Given the description of an element on the screen output the (x, y) to click on. 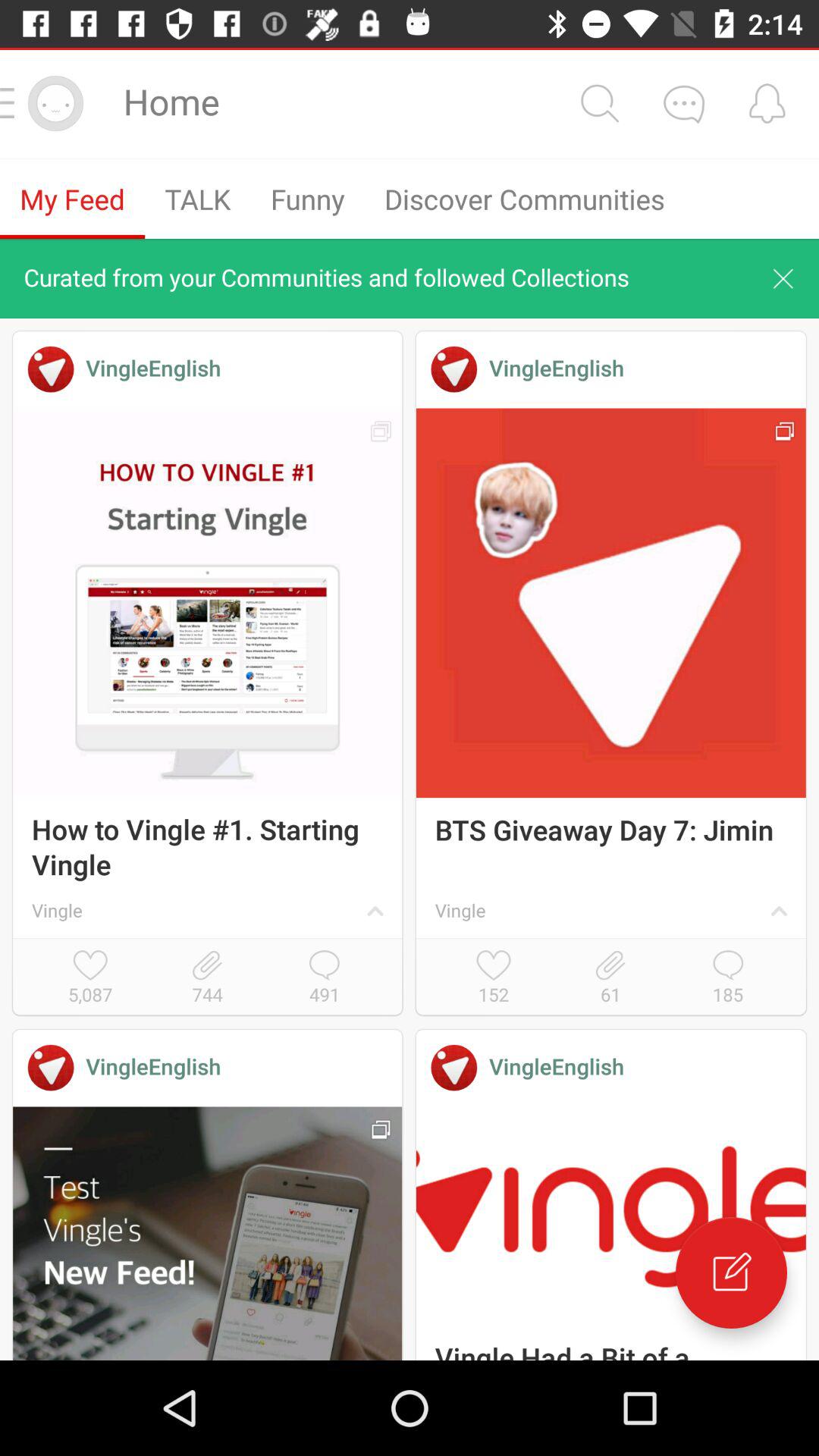
press icon below the vingle (728, 978)
